Given the description of an element on the screen output the (x, y) to click on. 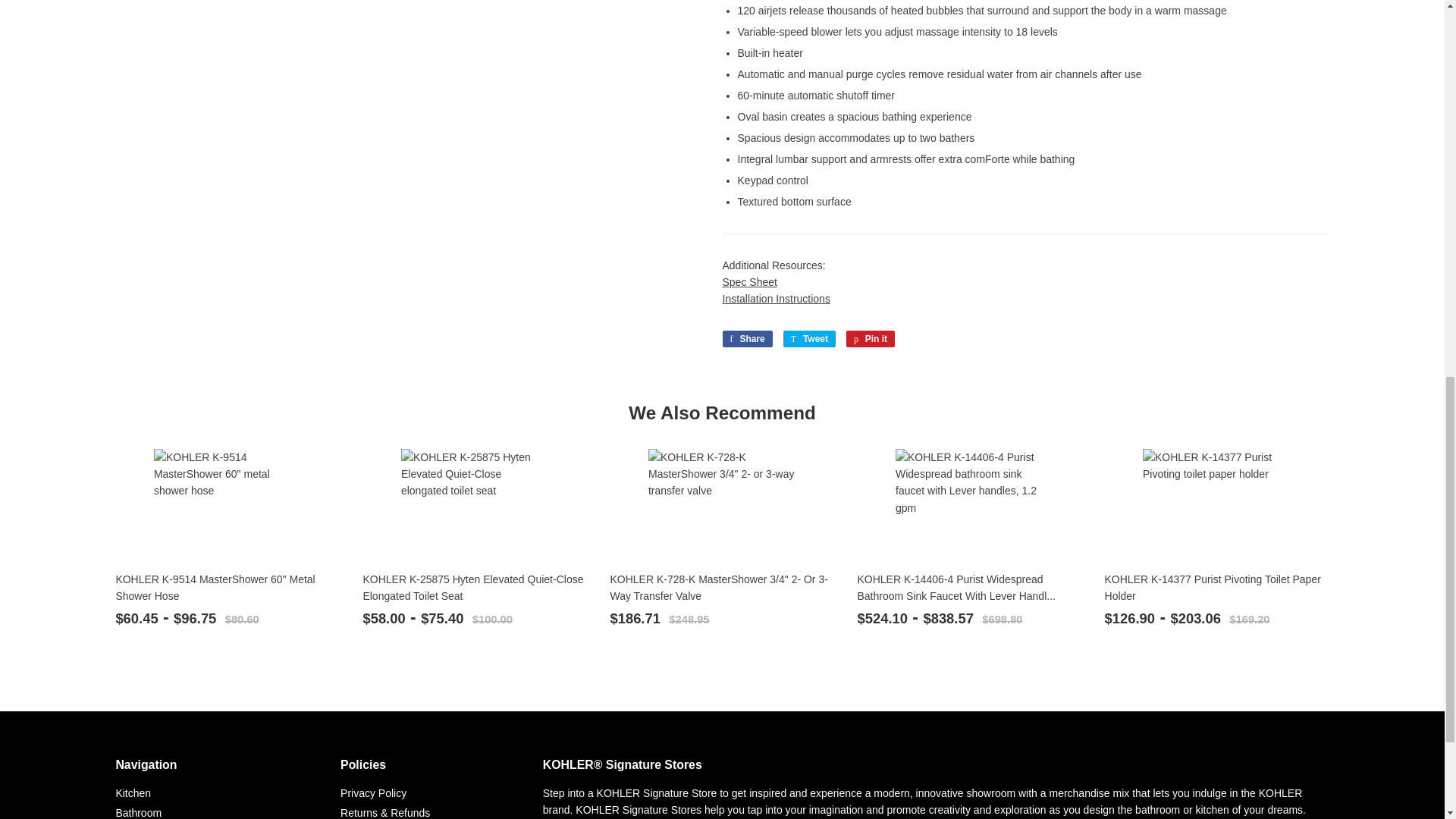
Share on Facebook (746, 338)
Pin on Pinterest (870, 338)
Tweet on Twitter (809, 338)
